Given the description of an element on the screen output the (x, y) to click on. 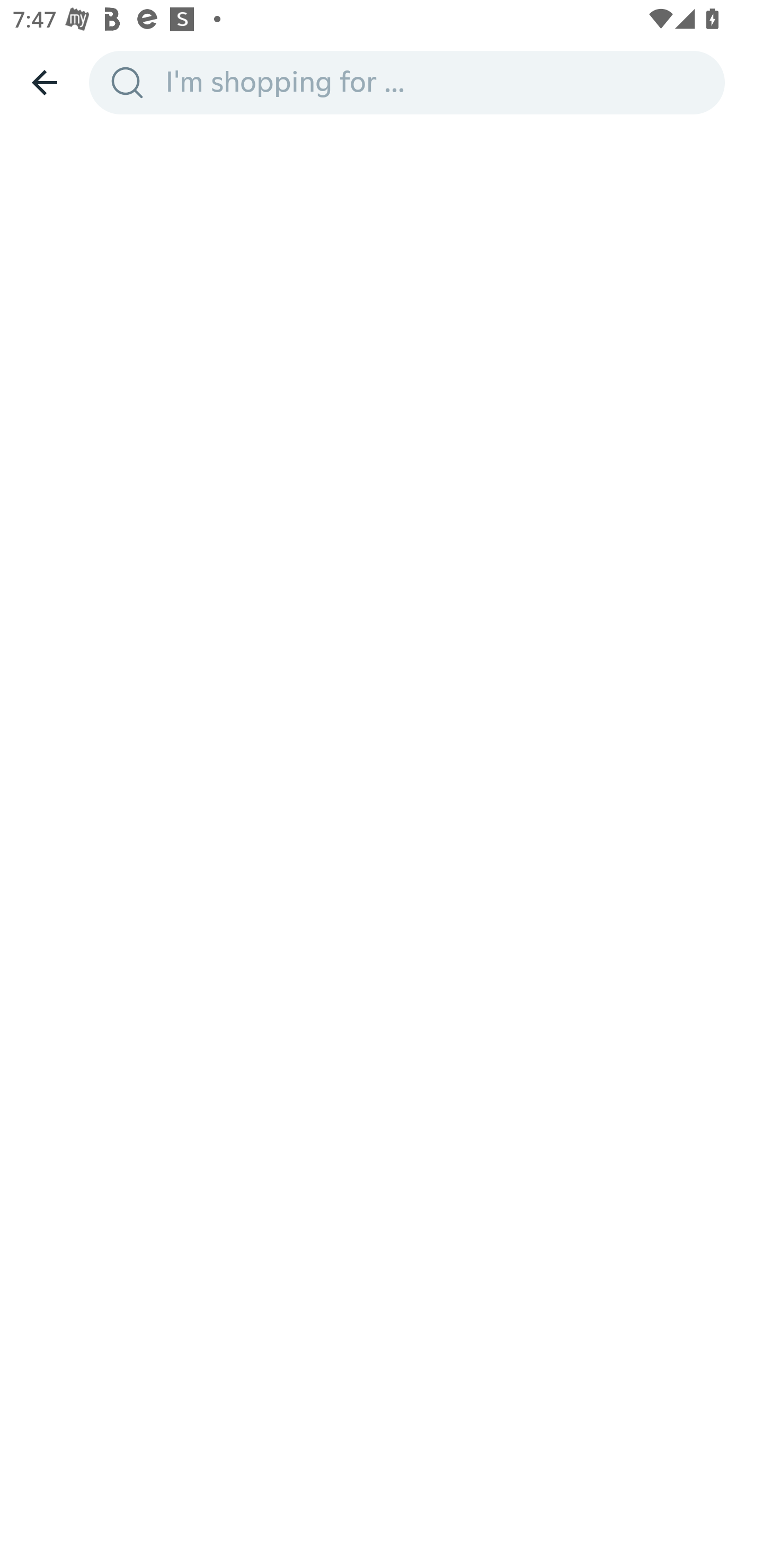
Navigate up (44, 82)
I'm shopping for ... (438, 81)
